Given the description of an element on the screen output the (x, y) to click on. 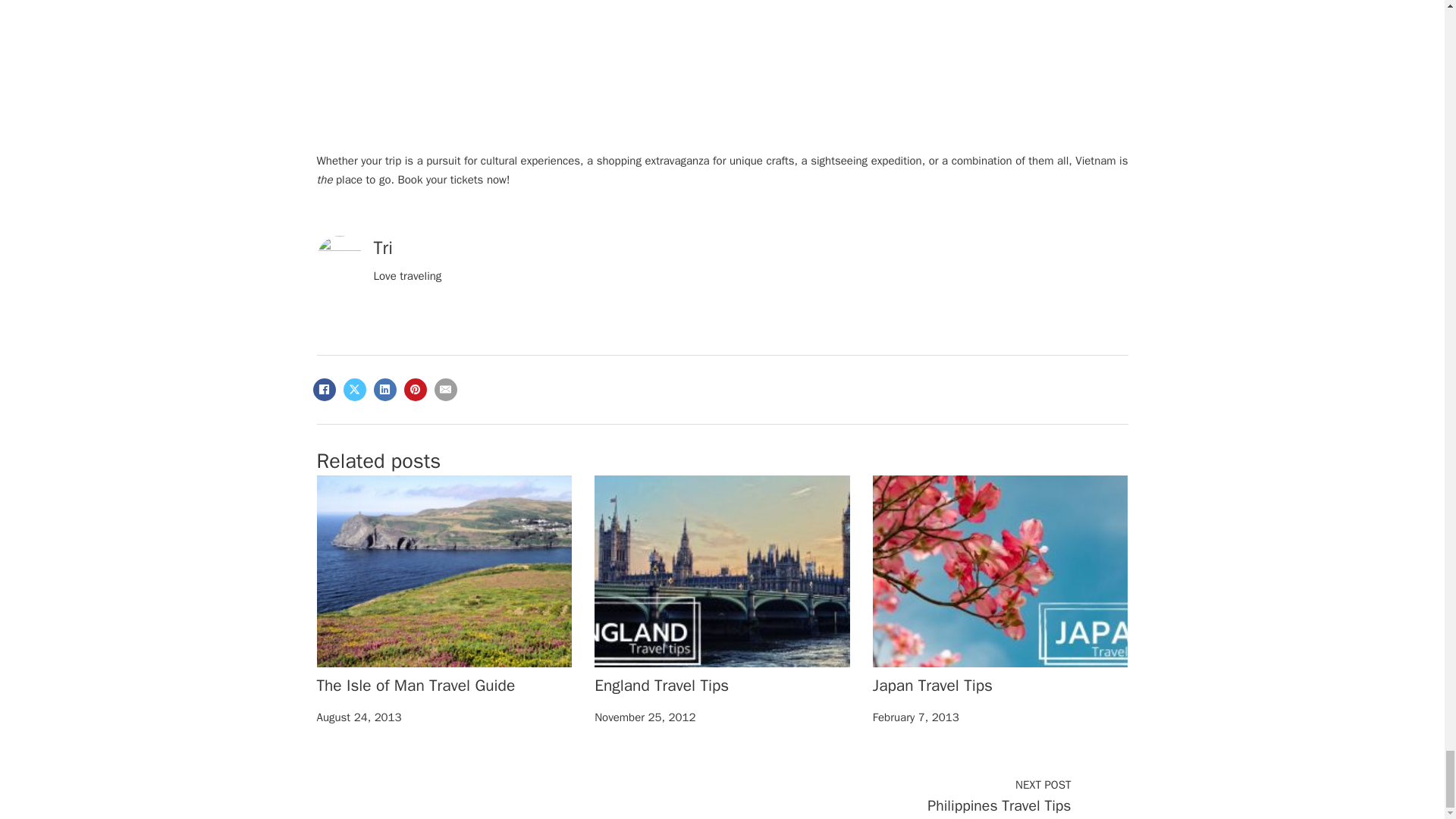
England Travel Tips (661, 685)
The Isle of Man Travel Guide (416, 685)
Japan Travel Tips (932, 685)
